Given the description of an element on the screen output the (x, y) to click on. 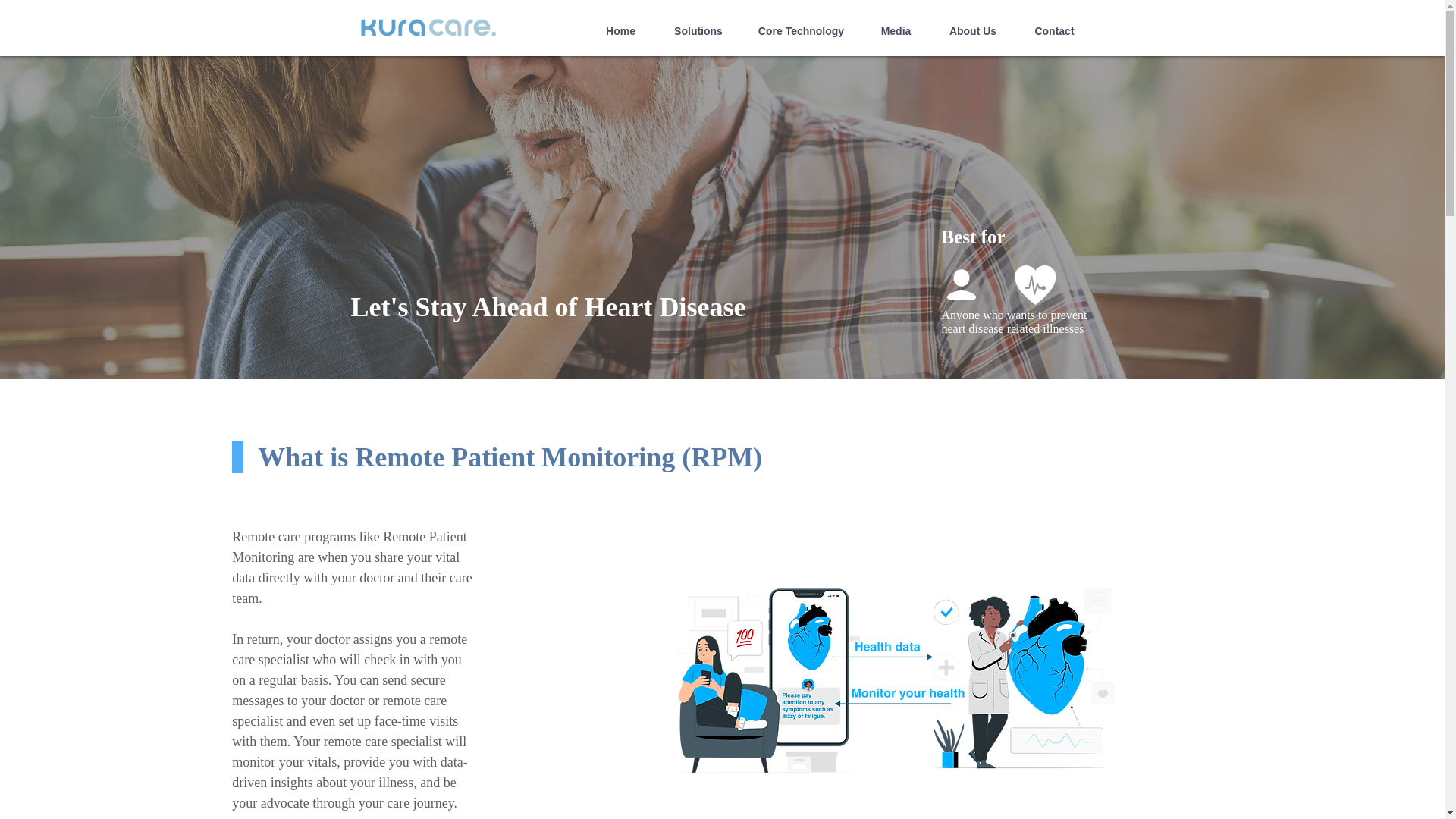
Contact (1053, 24)
Home (620, 24)
About Us (972, 24)
Core Technology (801, 24)
